Given the description of an element on the screen output the (x, y) to click on. 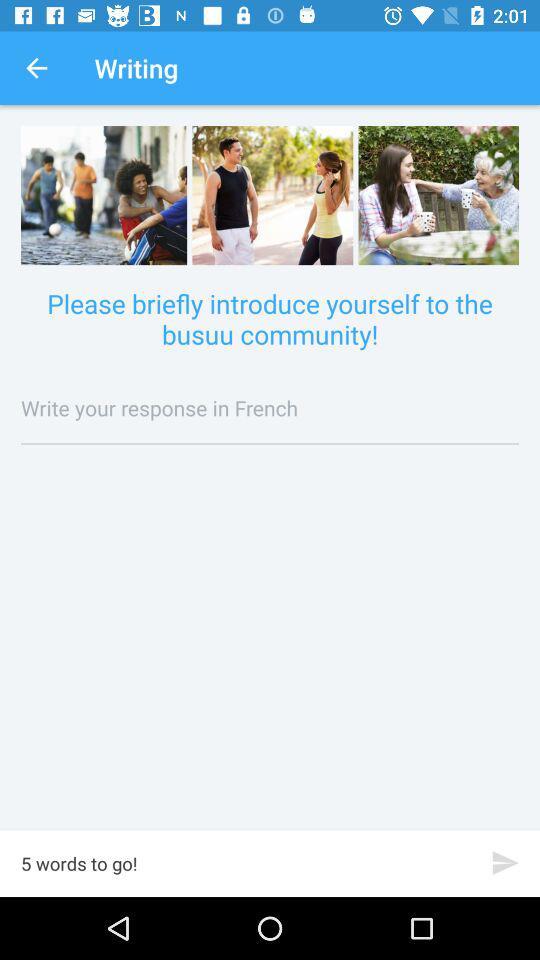
tap to write your response in french (270, 407)
